Given the description of an element on the screen output the (x, y) to click on. 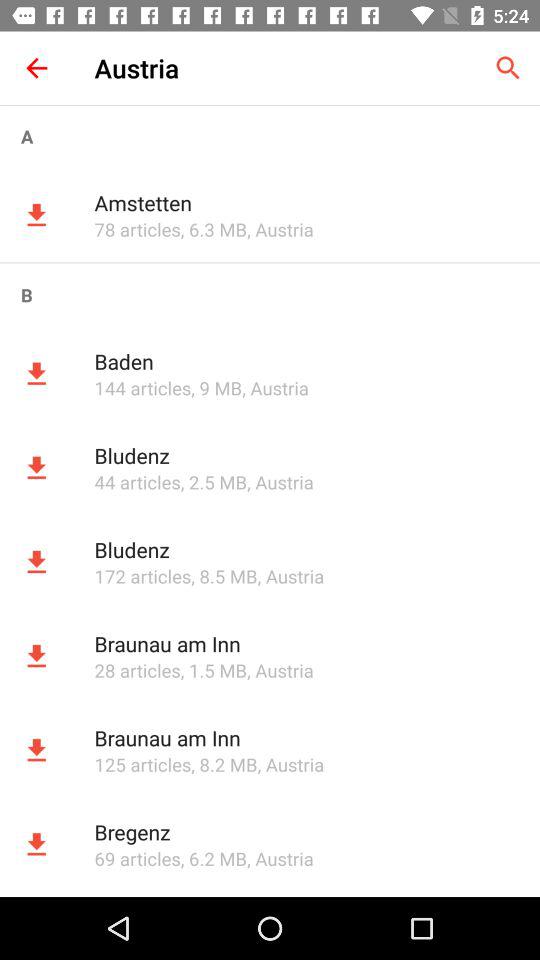
flip to baden app (306, 361)
